Given the description of an element on the screen output the (x, y) to click on. 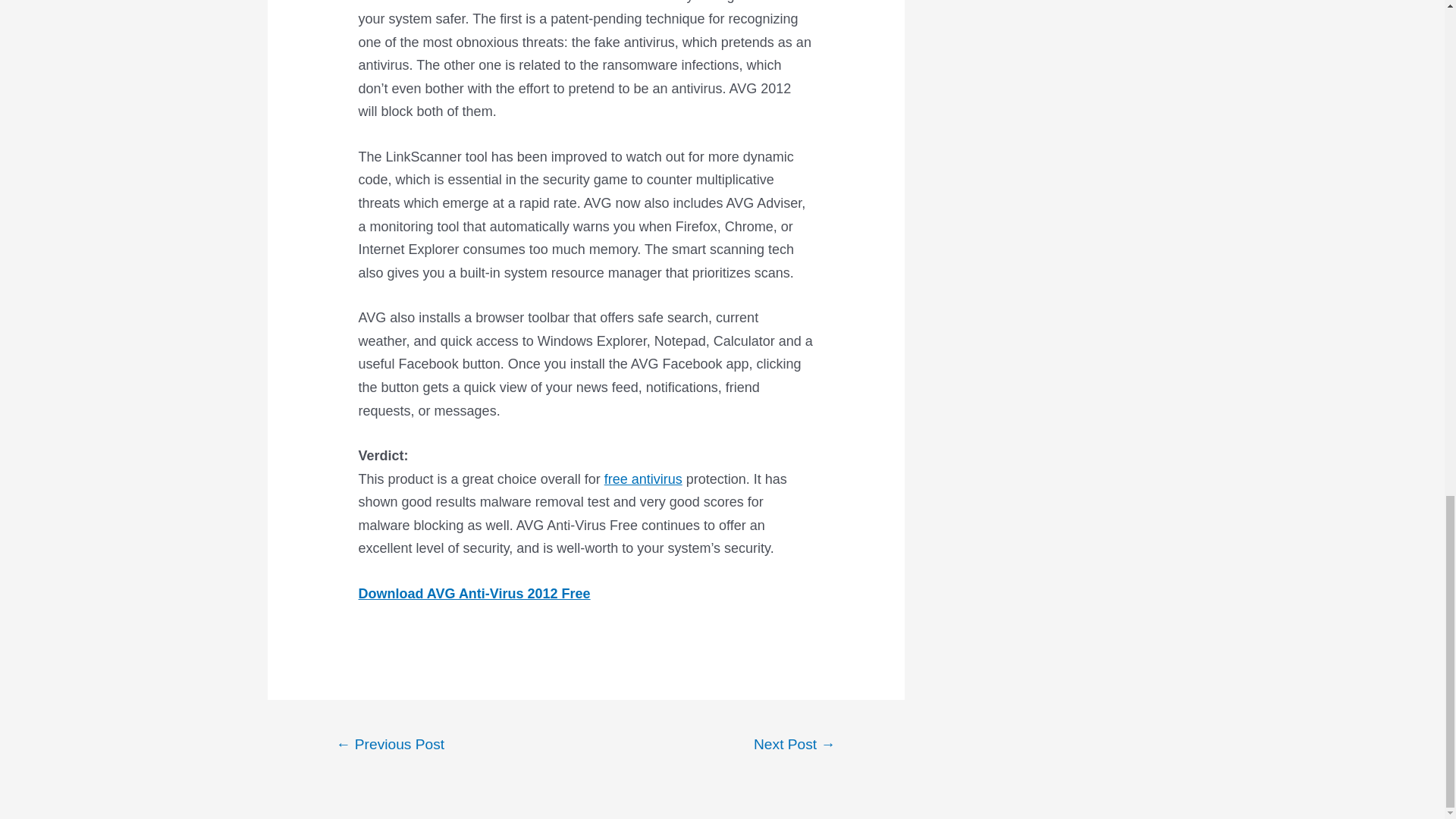
Download AVG Anti-Virus 2012 Free (474, 593)
free antivirus (643, 478)
5 Best Free File Compression Software (643, 478)
